Given the description of an element on the screen output the (x, y) to click on. 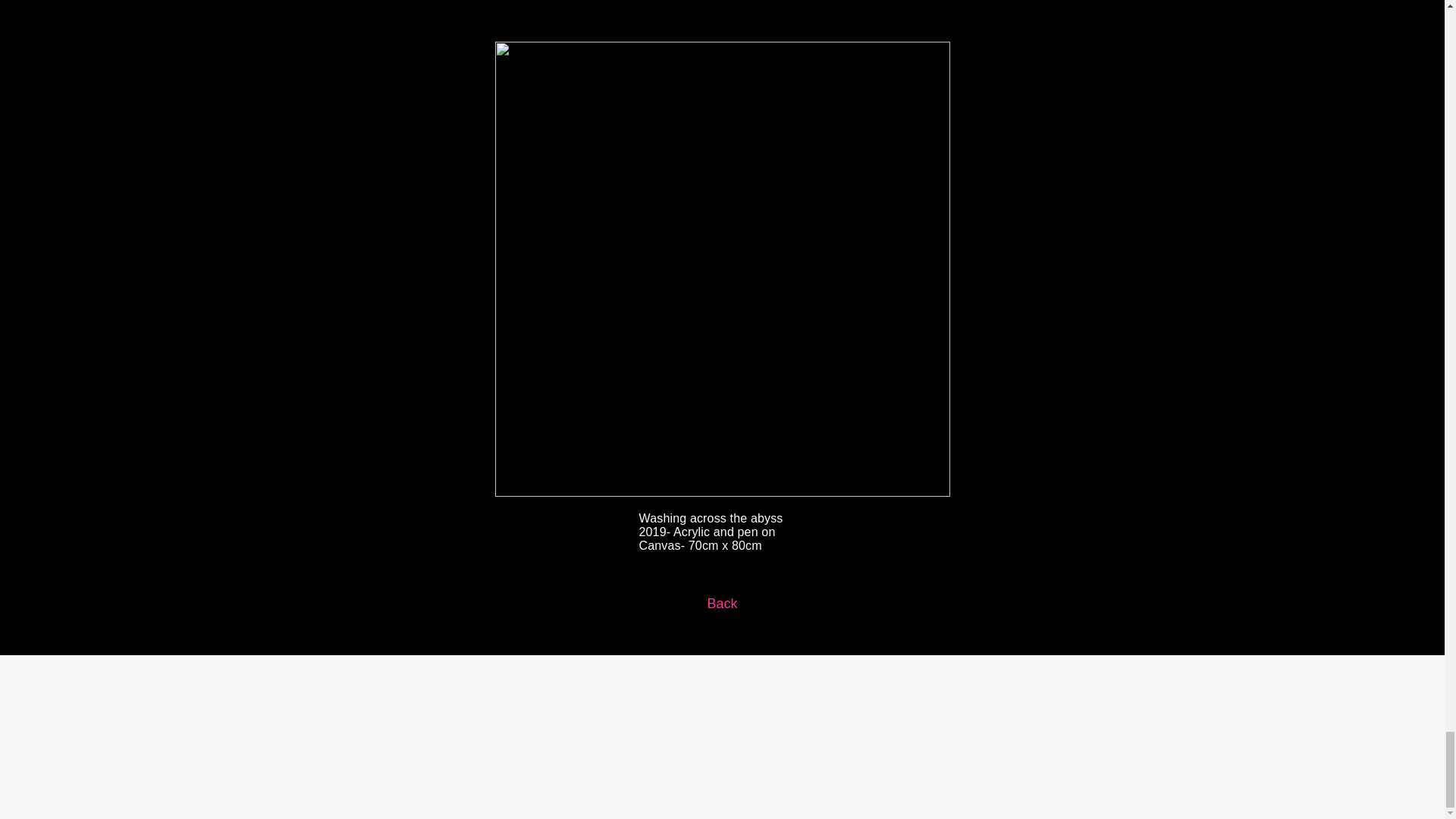
Back (722, 603)
